Given the description of an element on the screen output the (x, y) to click on. 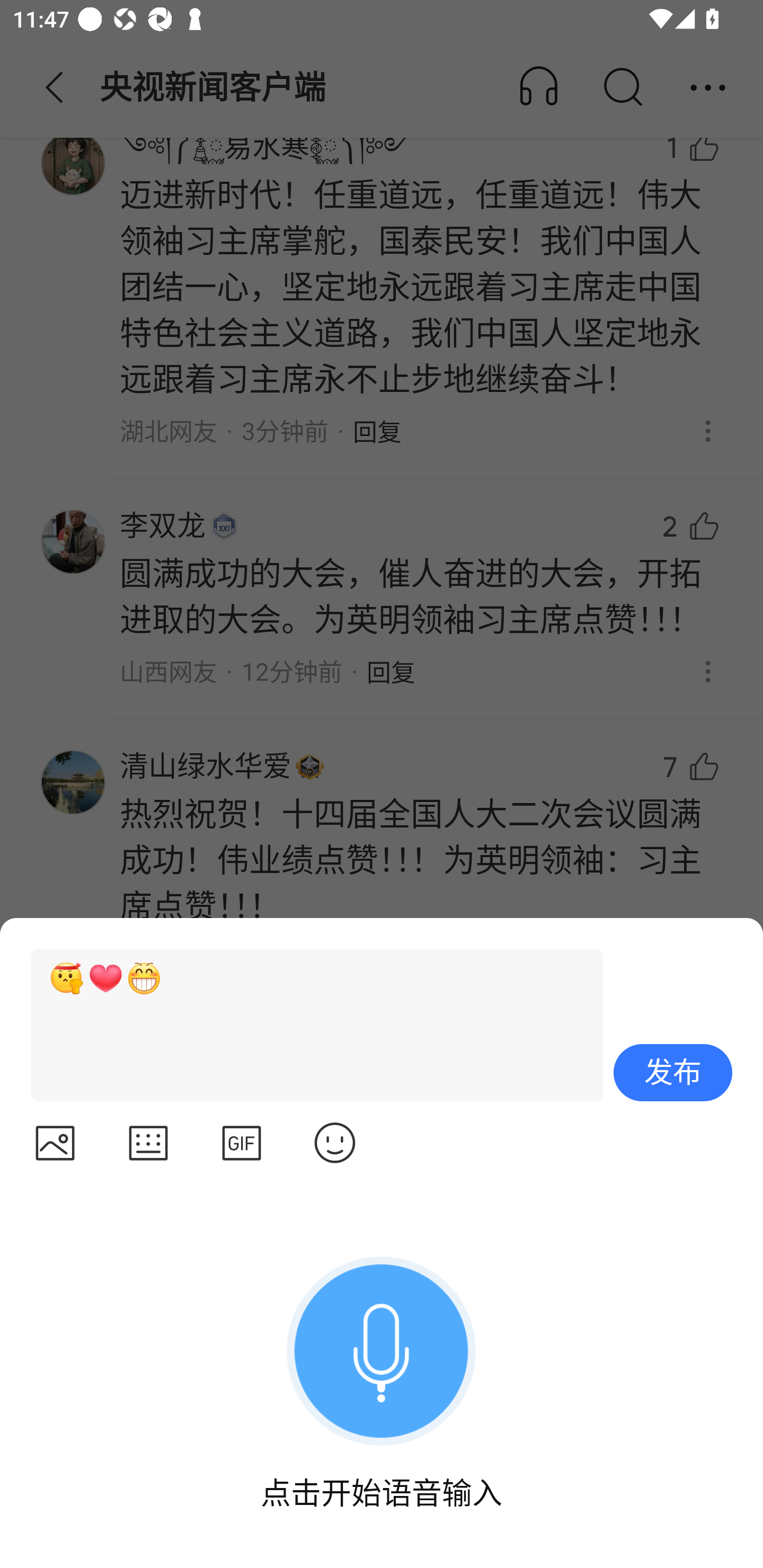
[奋斗][心][呲牙] (308, 1024)
发布 (672, 1072)
 (54, 1143)
 (148, 1143)
 (241, 1143)
 (334, 1143)
点击开始语音输入 (381, 1368)
